Given the description of an element on the screen output the (x, y) to click on. 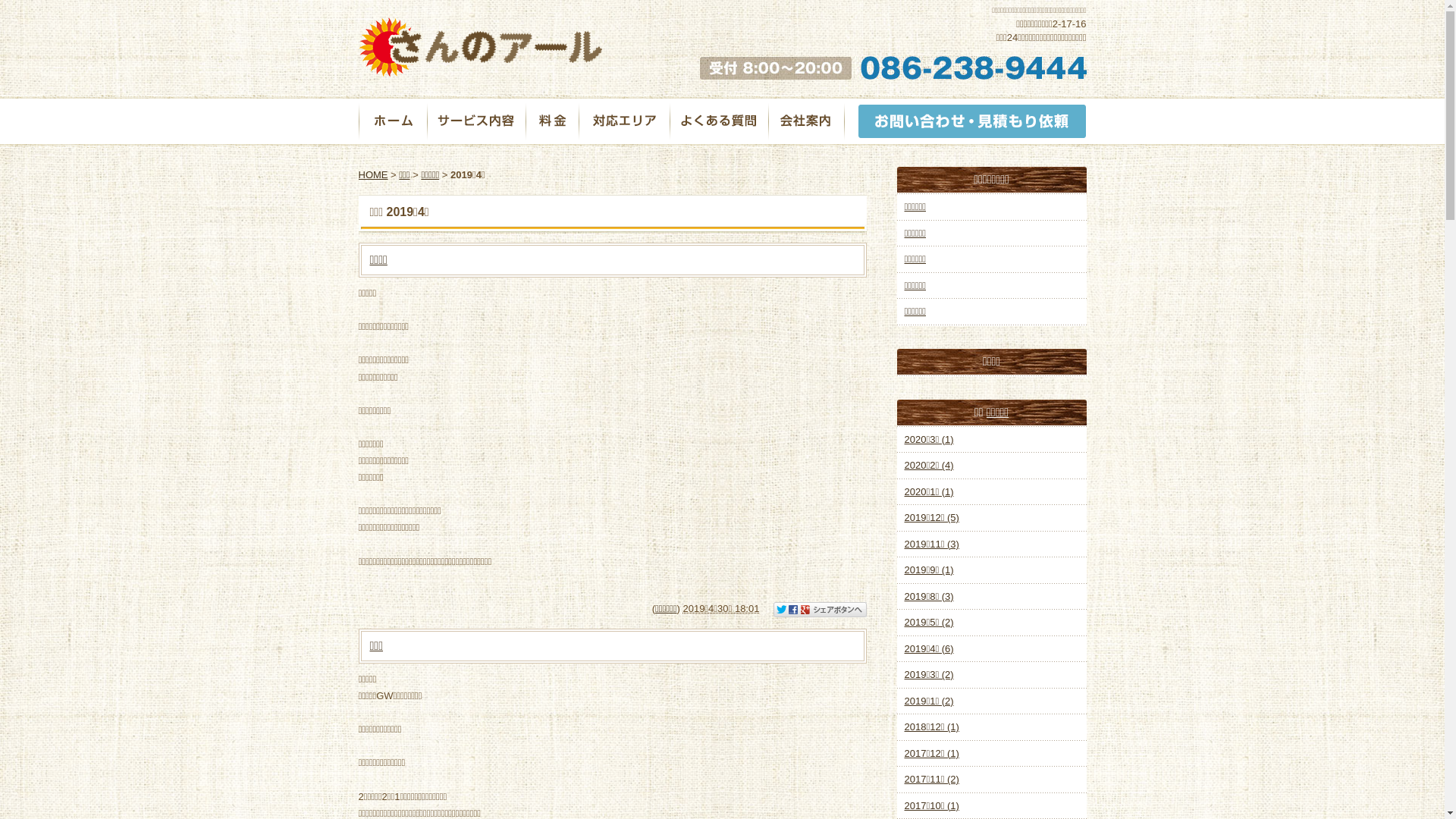
HOME Element type: text (372, 174)
